Given the description of an element on the screen output the (x, y) to click on. 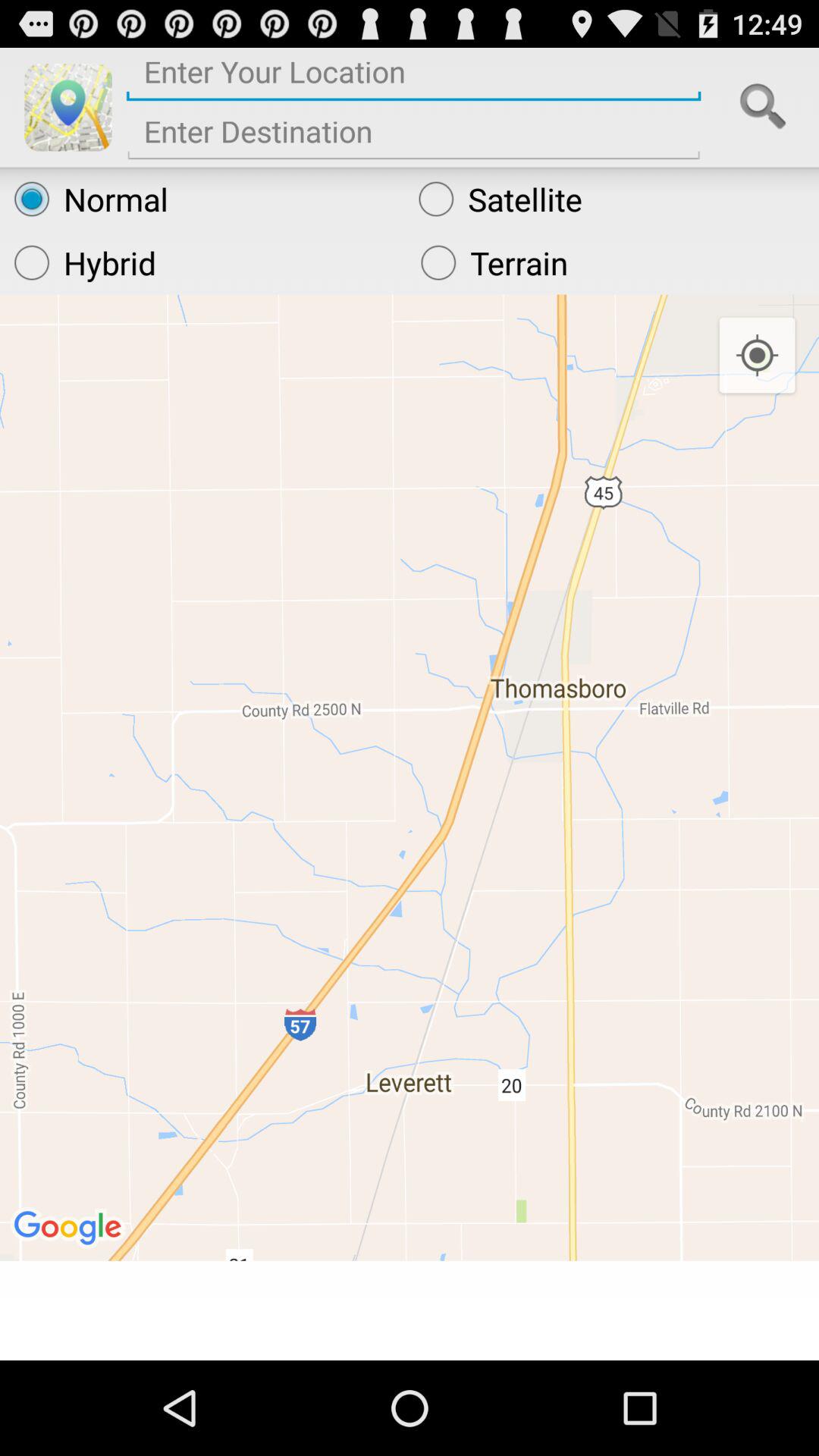
scroll until terrain item (612, 262)
